Given the description of an element on the screen output the (x, y) to click on. 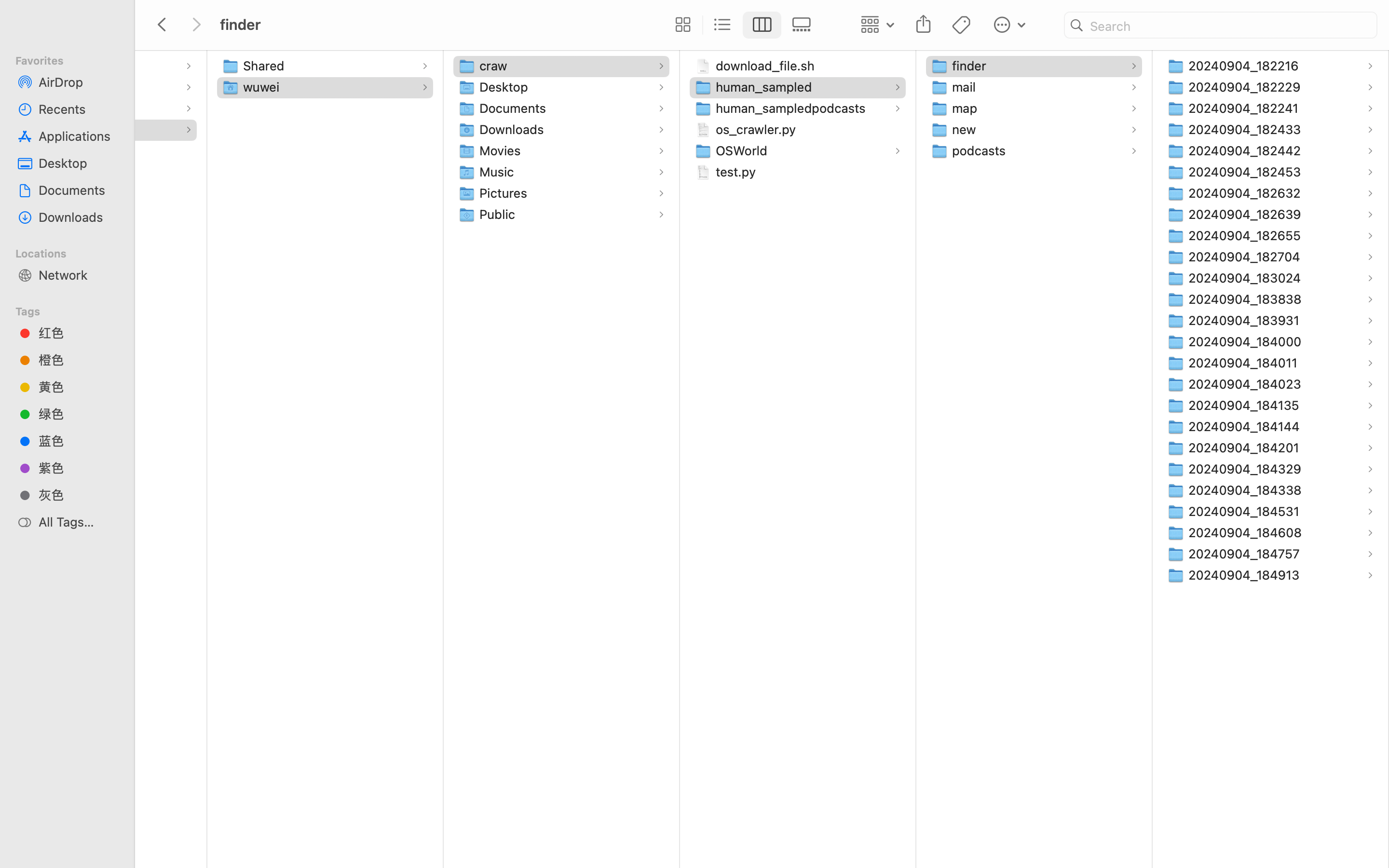
Downloads Element type: AXTextField (513, 128)
craw Element type: AXTextField (495, 65)
Documents Element type: AXTextField (514, 107)
AirDrop Element type: AXStaticText (77, 81)
Pictures Element type: AXTextField (505, 192)
